Given the description of an element on the screen output the (x, y) to click on. 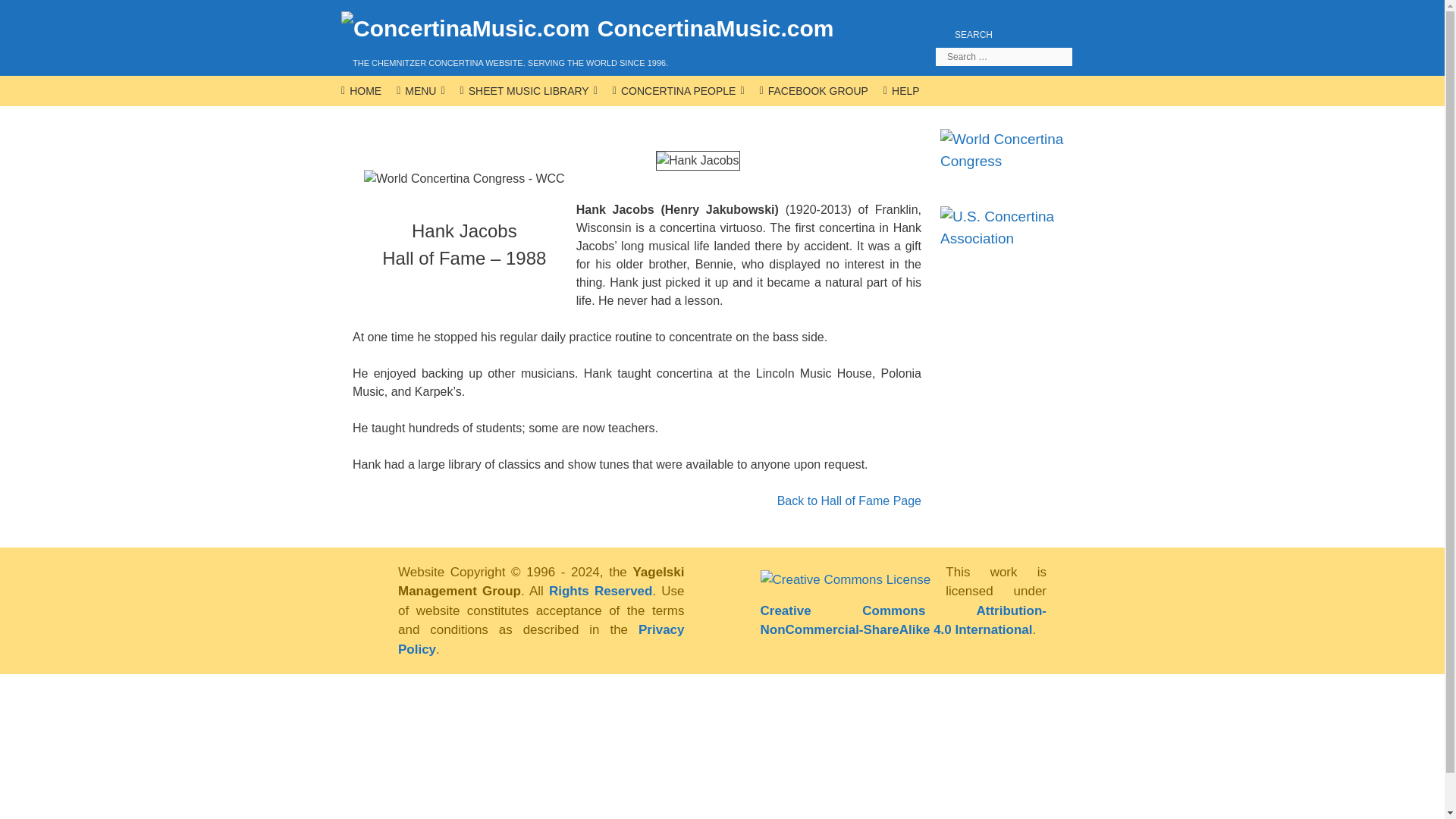
ConcertinaMusic.com (582, 27)
SHEET MUSIC LIBRARY (528, 91)
HOME (360, 91)
Search for: (1003, 55)
Search (34, 17)
MENU (419, 91)
